Given the description of an element on the screen output the (x, y) to click on. 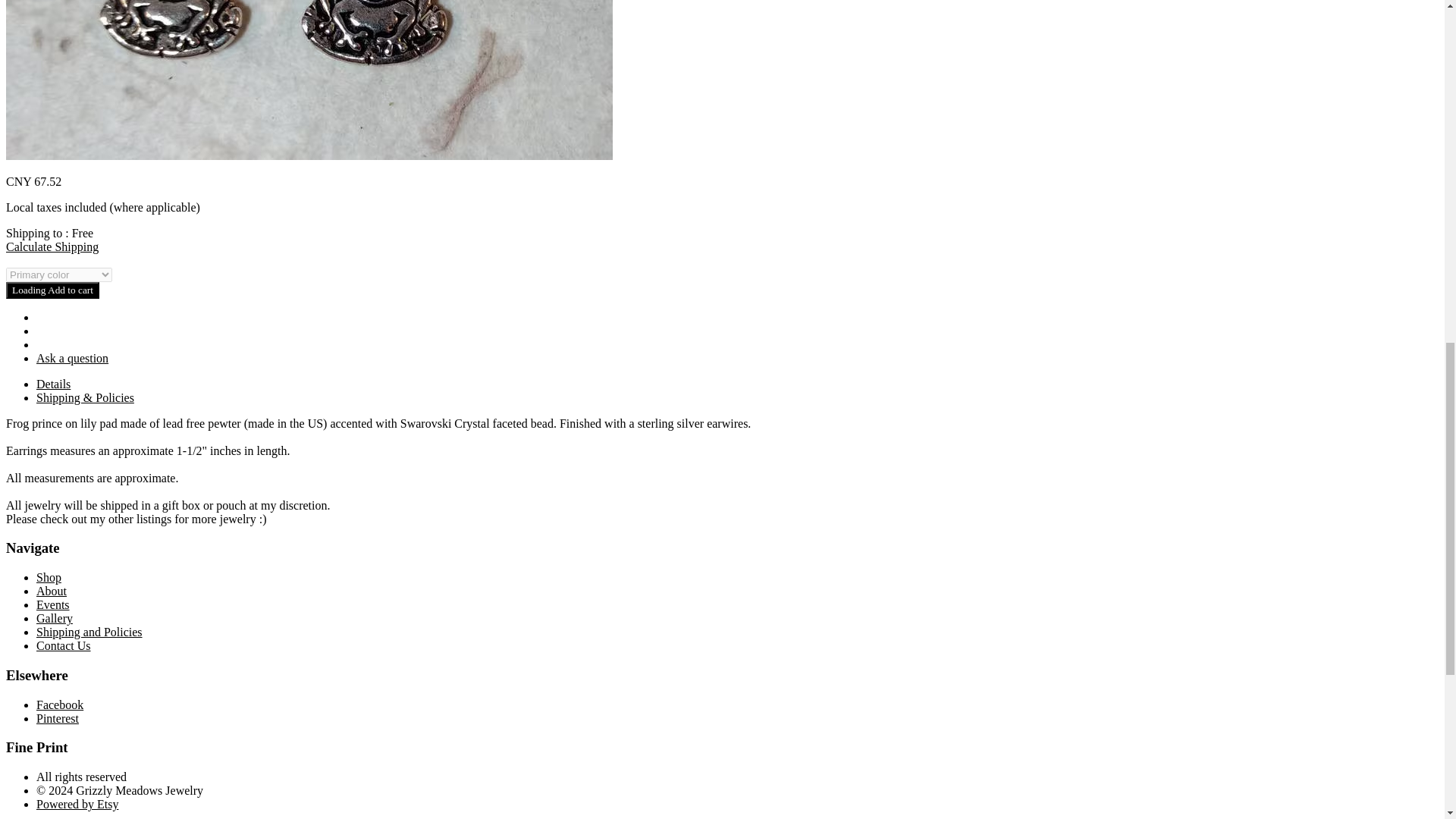
Shipping and Policies (89, 631)
Loading Add to cart (52, 289)
Events (52, 604)
Powered by Etsy (76, 803)
Shop (48, 576)
Calculate Shipping (52, 246)
Pinterest (57, 717)
Ask a question (71, 358)
Contact Us (63, 645)
Details (52, 383)
Gallery (54, 617)
About (51, 590)
Facebook (59, 704)
